Given the description of an element on the screen output the (x, y) to click on. 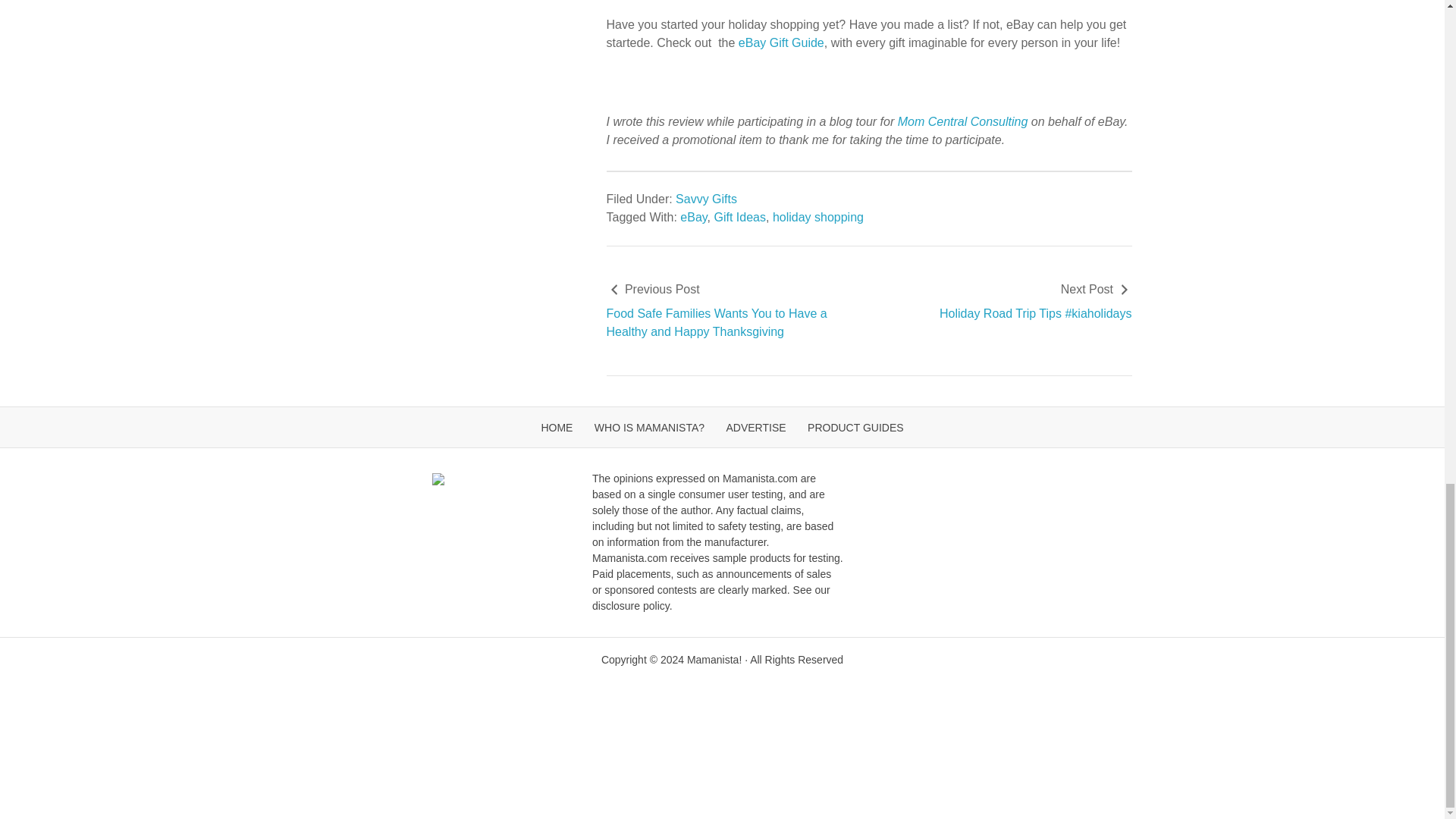
eBay (692, 216)
Gift Ideas (739, 216)
Mom Central Consulting (962, 121)
Savvy Gifts (705, 198)
eBay Gift Guide (779, 42)
